Given the description of an element on the screen output the (x, y) to click on. 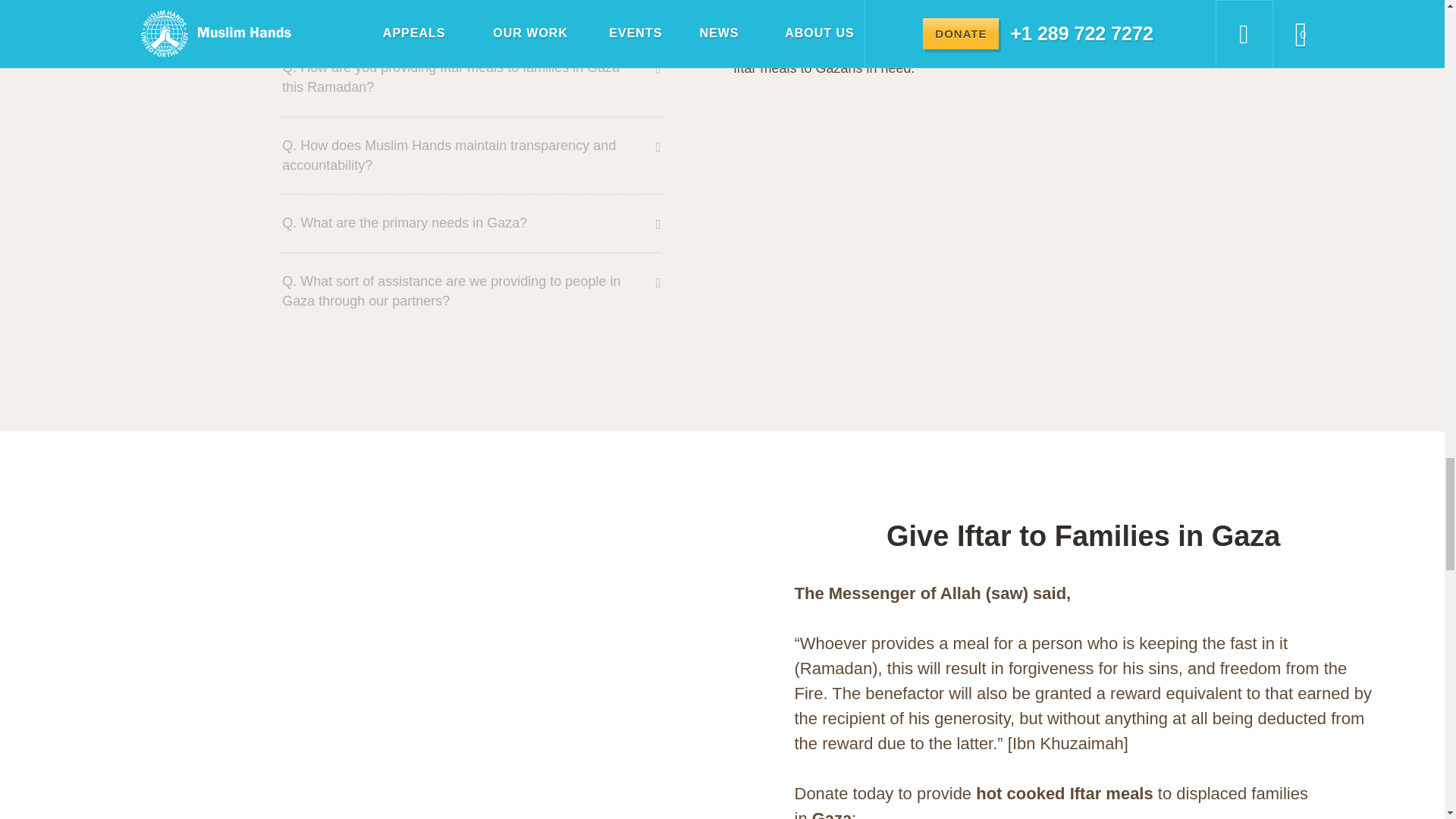
Q. Who are we working with in Gaza? (459, 10)
Q. What are the primary needs in Gaza? (459, 223)
